Given the description of an element on the screen output the (x, y) to click on. 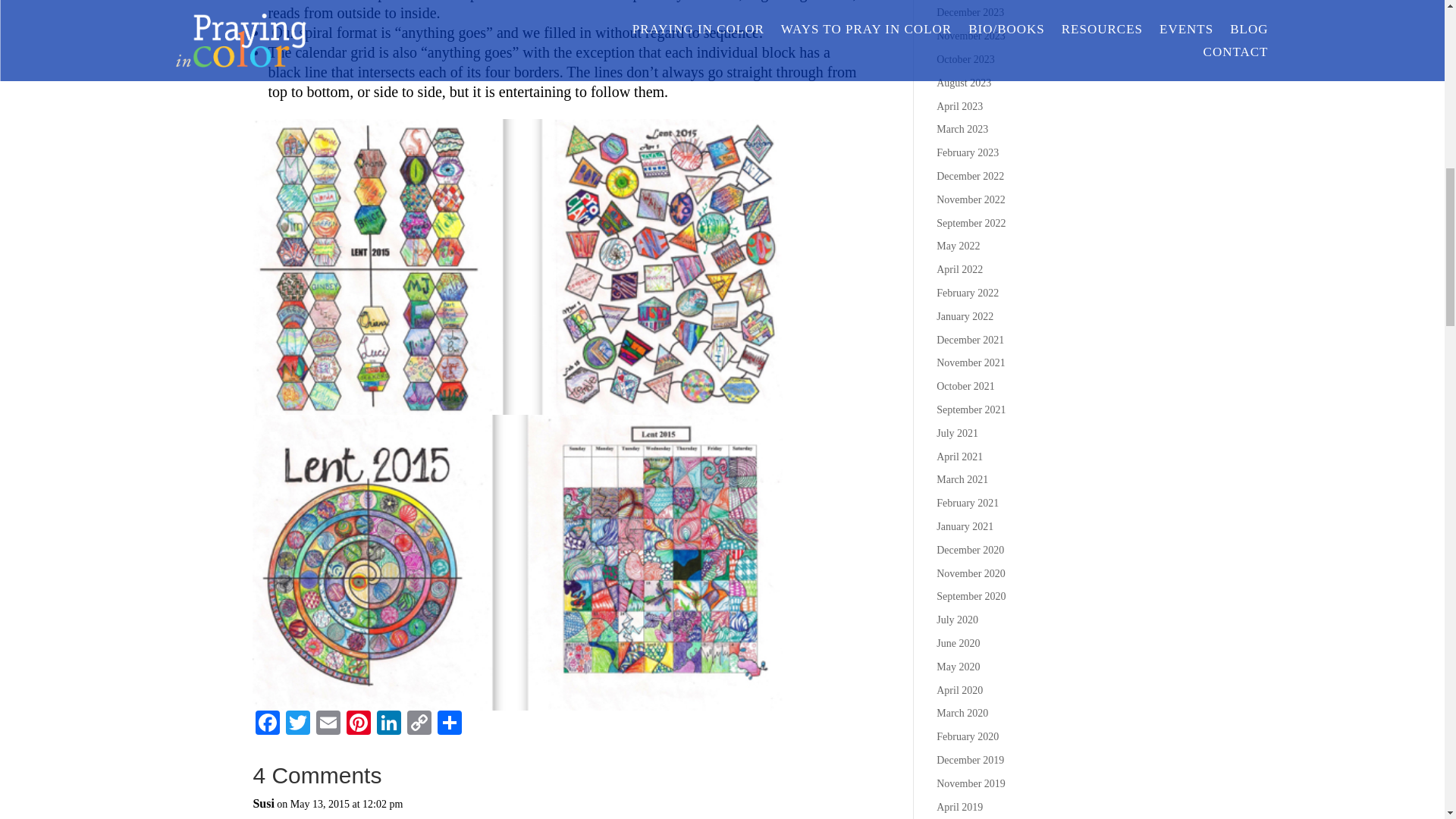
Email (328, 724)
Twitter (297, 724)
Share (448, 724)
Email (328, 724)
Copy Link (418, 724)
Facebook (266, 724)
LinkedIn (389, 724)
Pinterest (358, 724)
Twitter (297, 724)
Facebook (266, 724)
LinkedIn (389, 724)
Pinterest (358, 724)
Copy Link (418, 724)
